Given the description of an element on the screen output the (x, y) to click on. 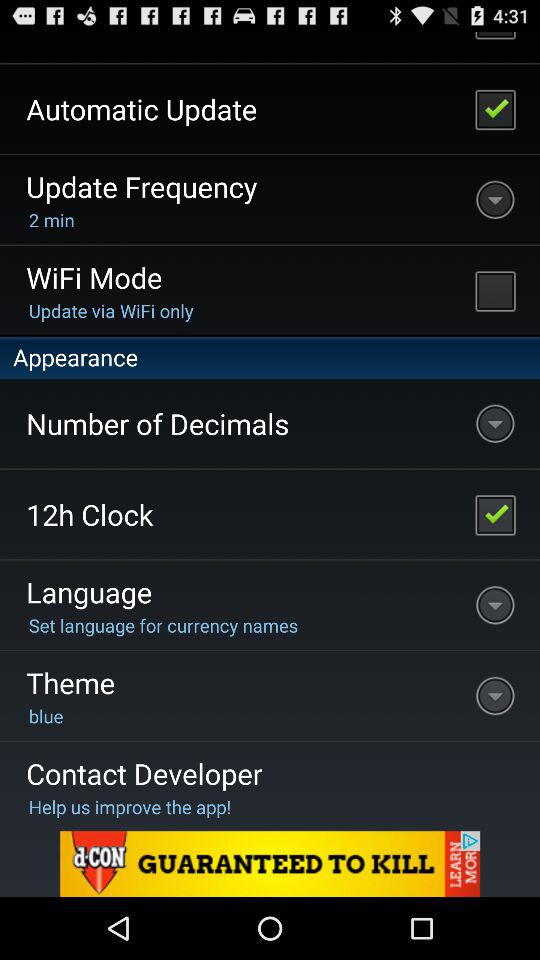
toggle 12h clock (495, 514)
